Given the description of an element on the screen output the (x, y) to click on. 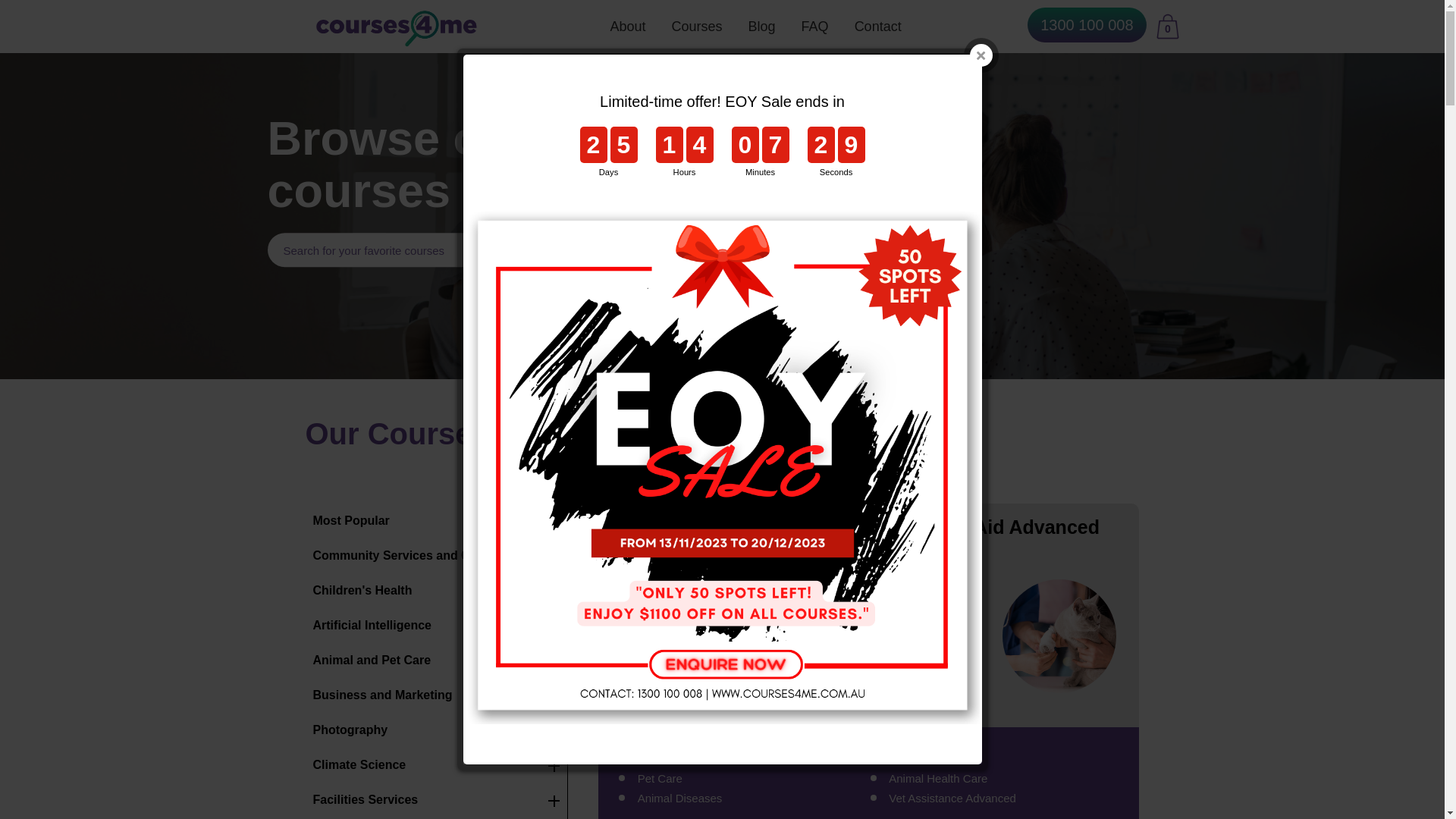
Contact Element type: text (877, 26)
Artificial Intelligence Element type: text (435, 625)
About Element type: text (627, 26)
Animal and Pet Care Element type: text (435, 660)
Blog Element type: text (761, 26)
Close Element type: hover (980, 54)
FAQ Element type: text (814, 26)
Courses Element type: text (696, 26)
1300 100 008 Element type: text (1086, 24)
Climate Science Element type: text (435, 765)
Business and Marketing Element type: text (435, 695)
Most Popular Element type: text (435, 520)
Facilities Services Element type: text (435, 799)
0 Element type: text (1167, 26)
Children's Health Element type: text (435, 590)
Community Services and Counselling Element type: text (435, 555)
Photography Element type: text (435, 730)
